Given the description of an element on the screen output the (x, y) to click on. 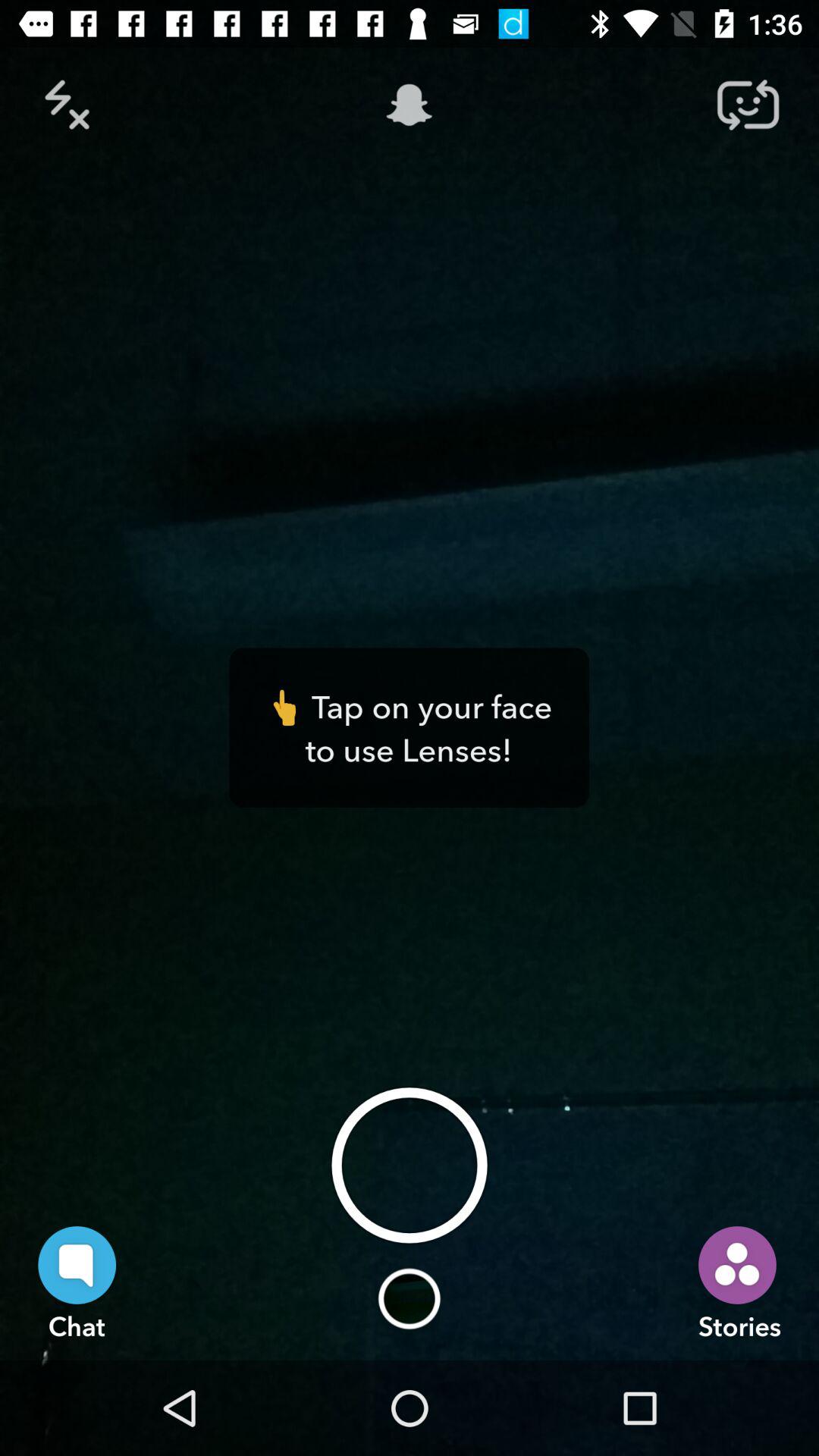
go back (70, 104)
